Given the description of an element on the screen output the (x, y) to click on. 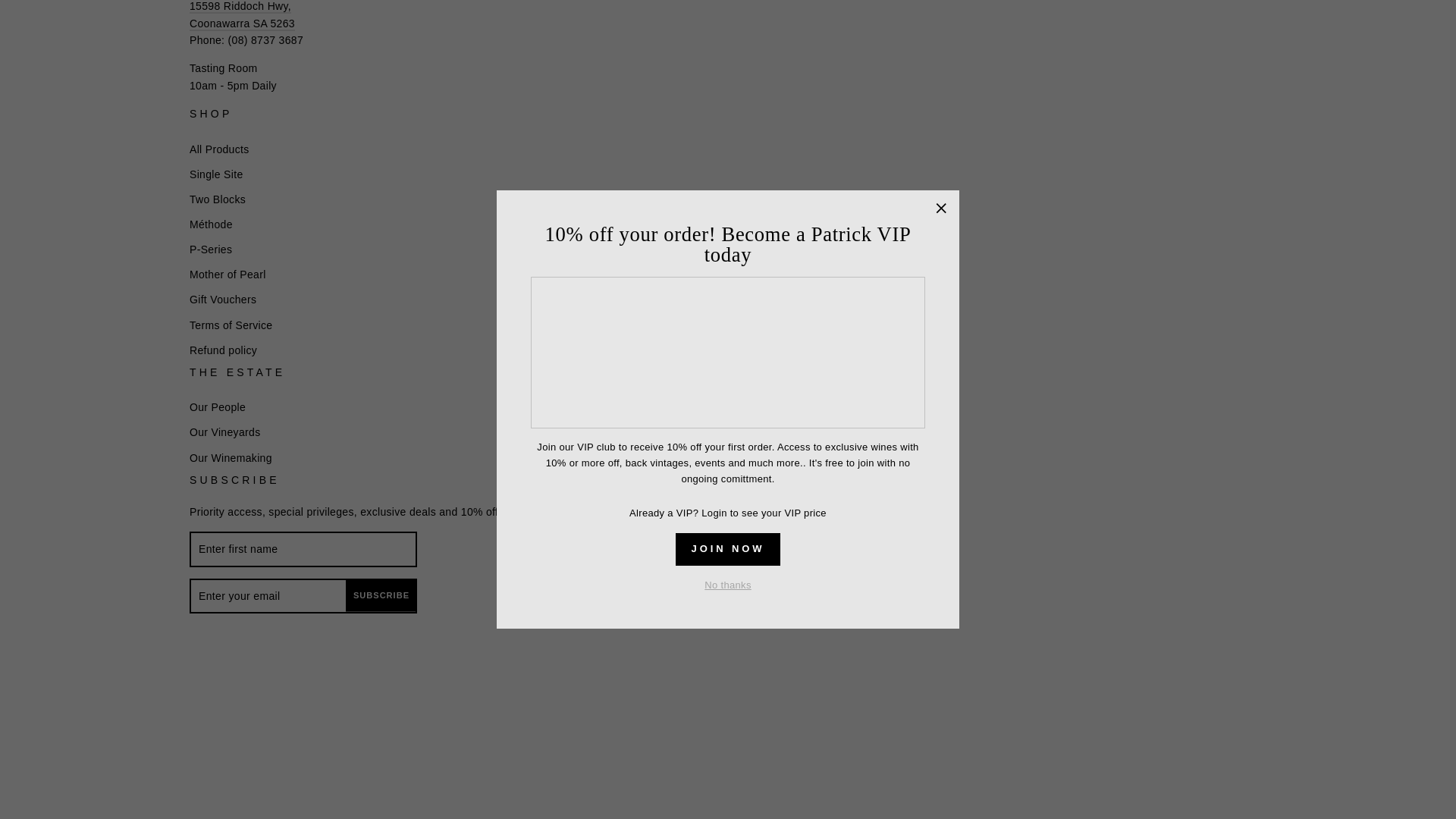
American Express (206, 704)
Visa (415, 704)
Google Pay (276, 704)
Mastercard (311, 704)
Apple Pay (241, 704)
Shop Pay (346, 704)
Union Pay (381, 704)
